Given the description of an element on the screen output the (x, y) to click on. 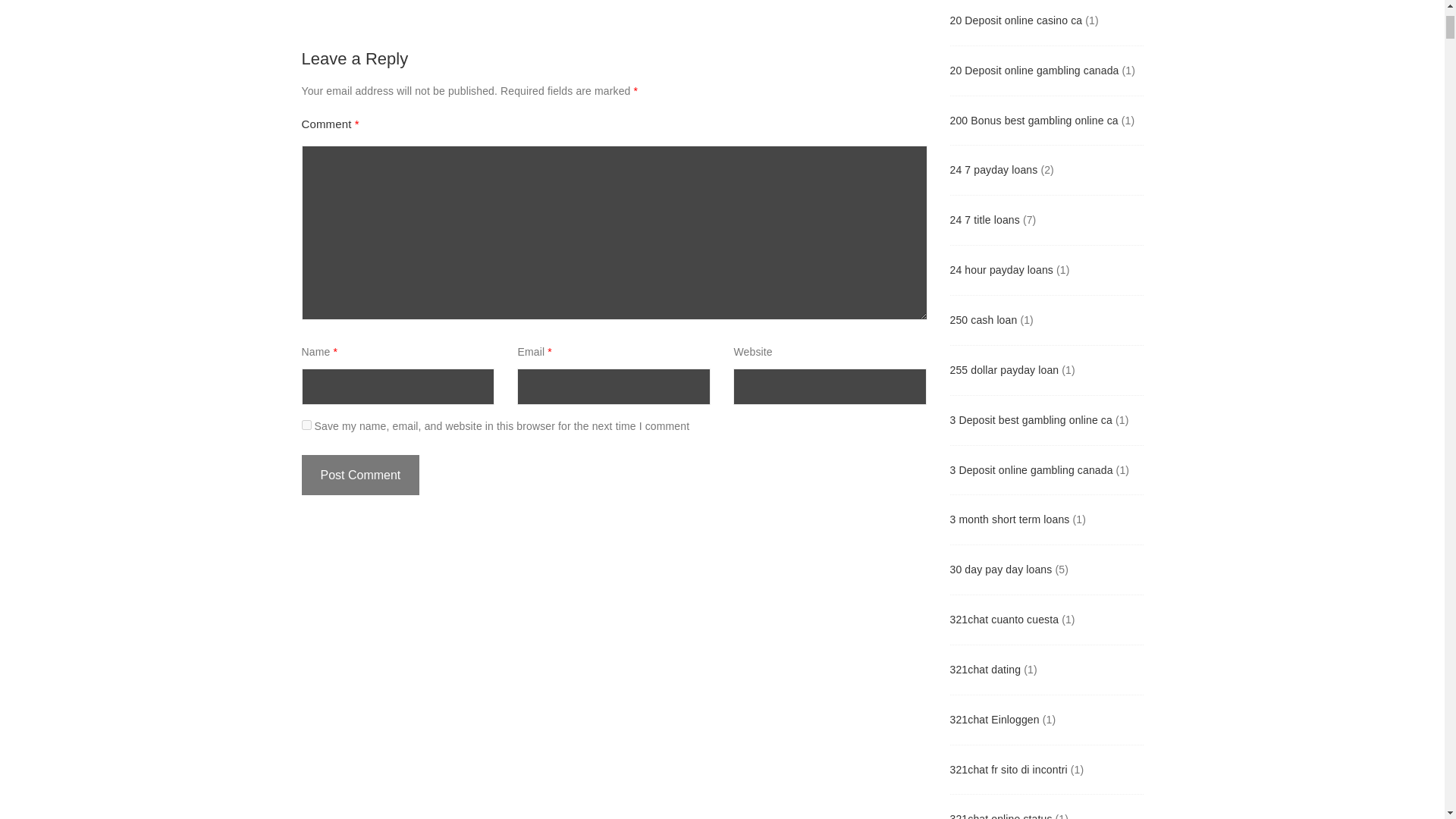
Post Comment (360, 474)
Post Comment (360, 474)
yes (306, 424)
